Given the description of an element on the screen output the (x, y) to click on. 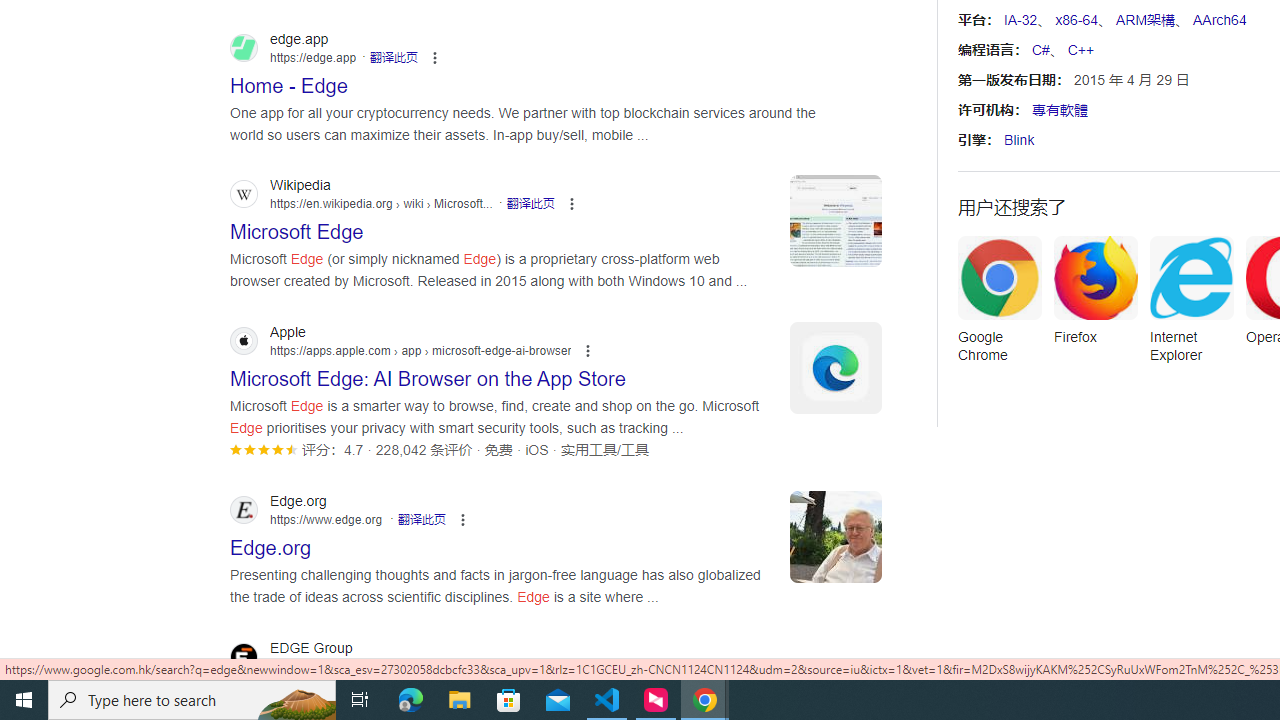
IA-32 (1020, 20)
Firefox (1095, 296)
Blink (1019, 139)
 Edge.org Edge.org https://www.edge.org (271, 542)
Google Chrome (999, 305)
C# (1039, 49)
